Given the description of an element on the screen output the (x, y) to click on. 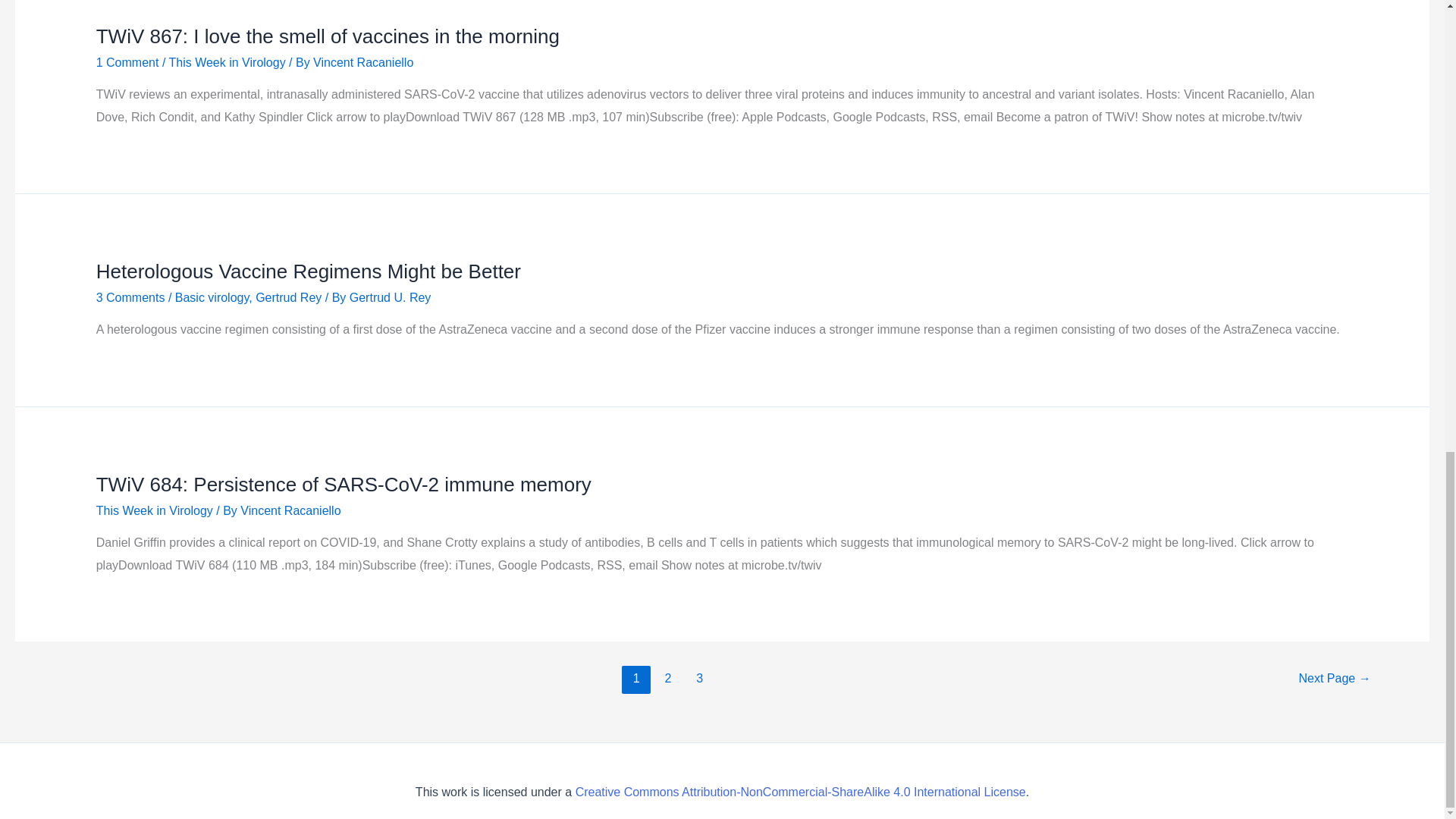
View all posts by Vincent Racaniello (290, 510)
View all posts by Gertrud U. Rey (389, 297)
View all posts by Vincent Racaniello (363, 62)
